Given the description of an element on the screen output the (x, y) to click on. 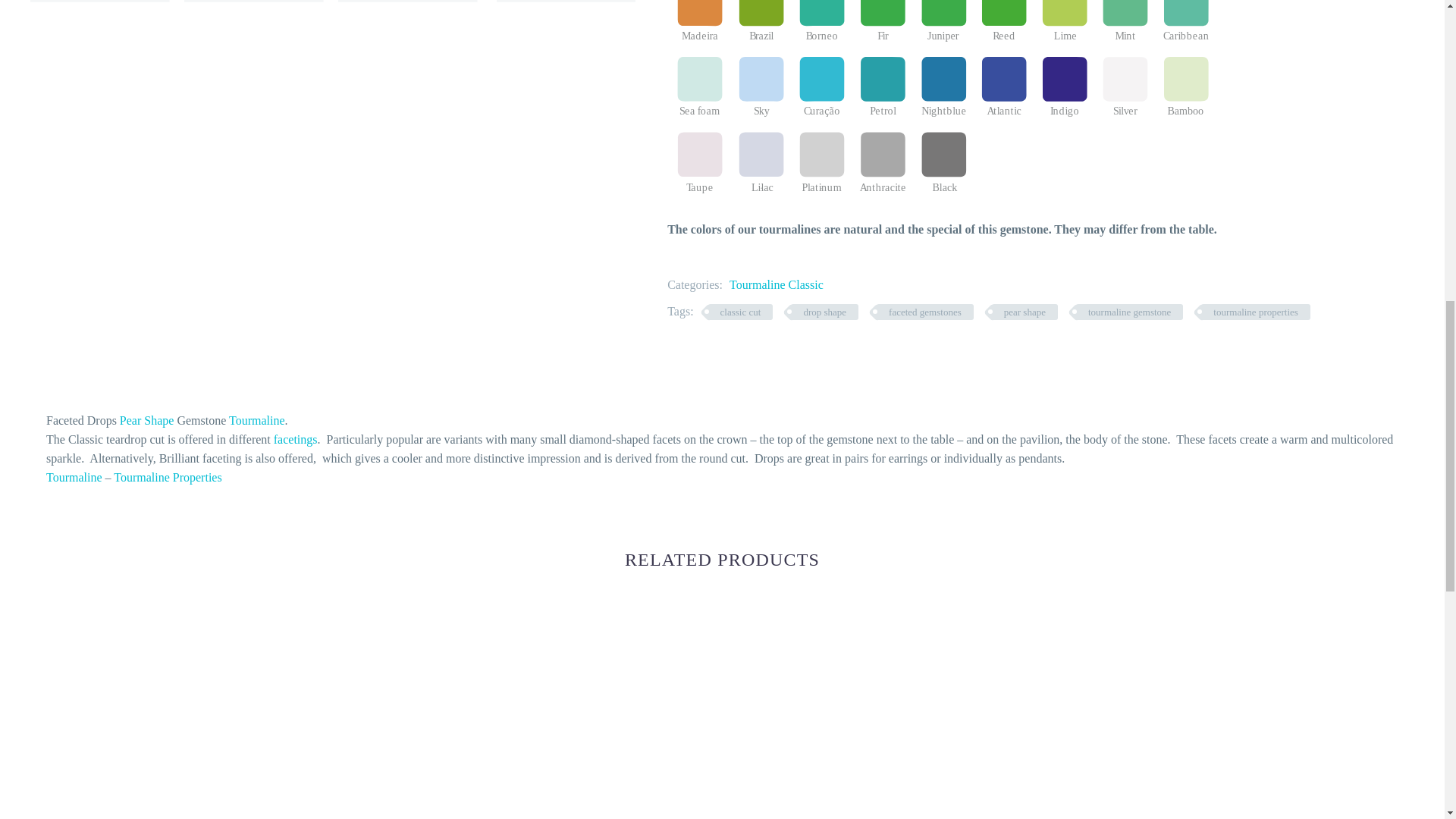
classic cut (740, 311)
facetings (295, 439)
pear shape (1024, 311)
tourmaline properties (1255, 311)
tourmaline gemstone (1128, 311)
Tourmaline (256, 420)
Fancy (132, 714)
Tourmaline Properties (167, 477)
Pear Shape (146, 420)
Tourmaline (73, 477)
faceted gemstones (925, 311)
Tourmaline Classic (776, 284)
drop shape (824, 311)
